Given the description of an element on the screen output the (x, y) to click on. 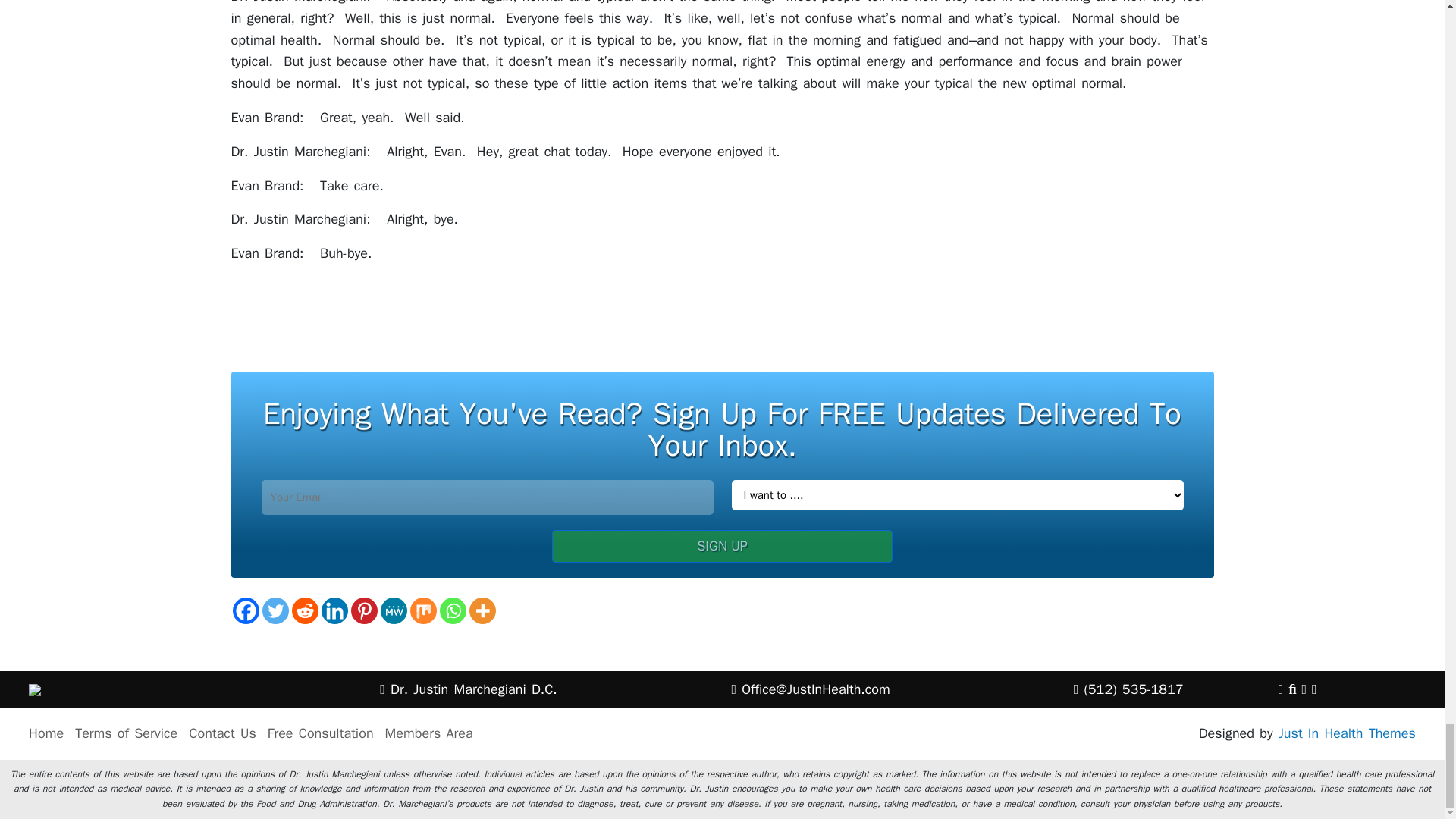
Facebook (245, 610)
Twitter (275, 610)
Reddit (304, 610)
